Given the description of an element on the screen output the (x, y) to click on. 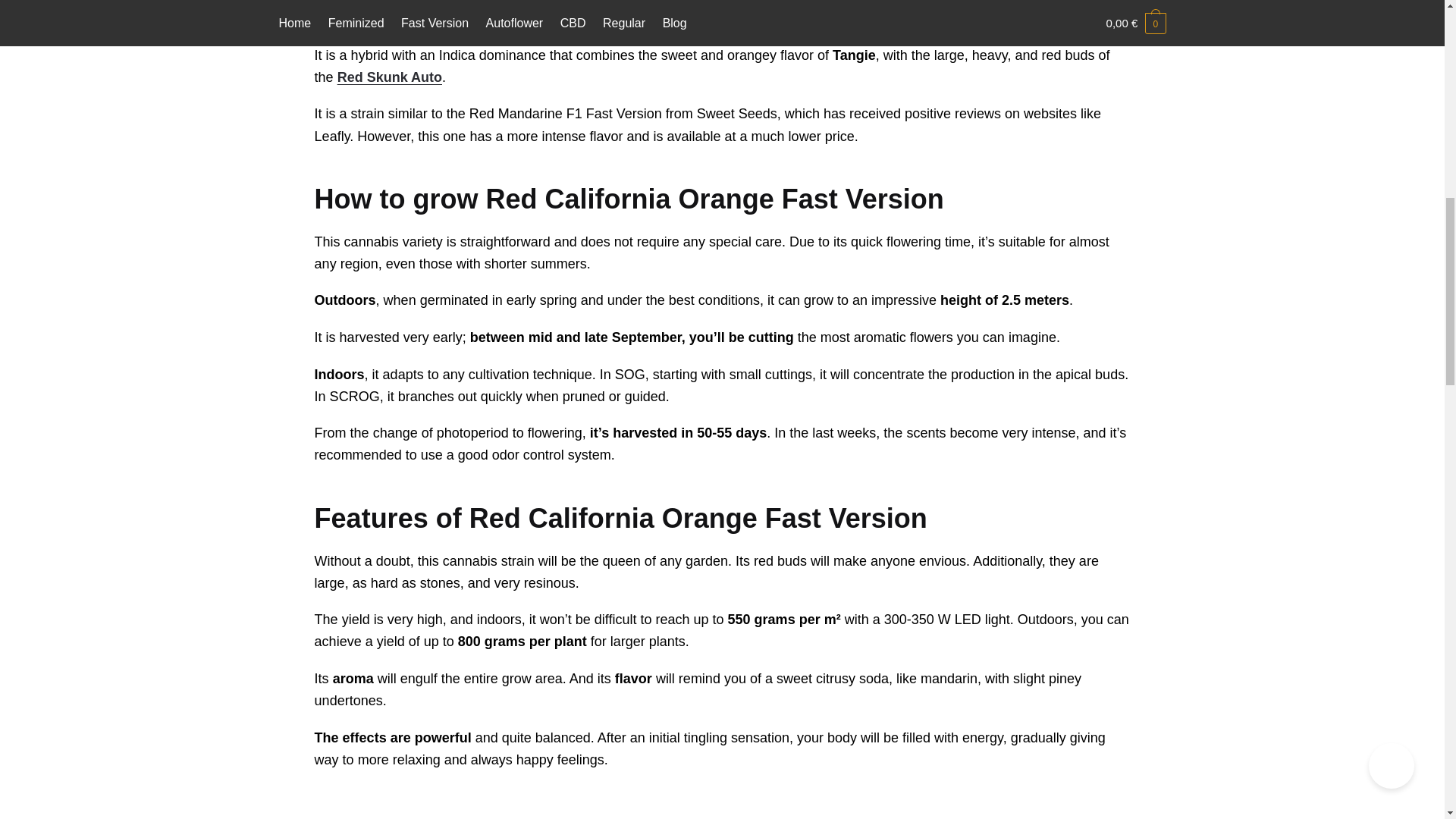
Red Skunk Auto (389, 77)
